Given the description of an element on the screen output the (x, y) to click on. 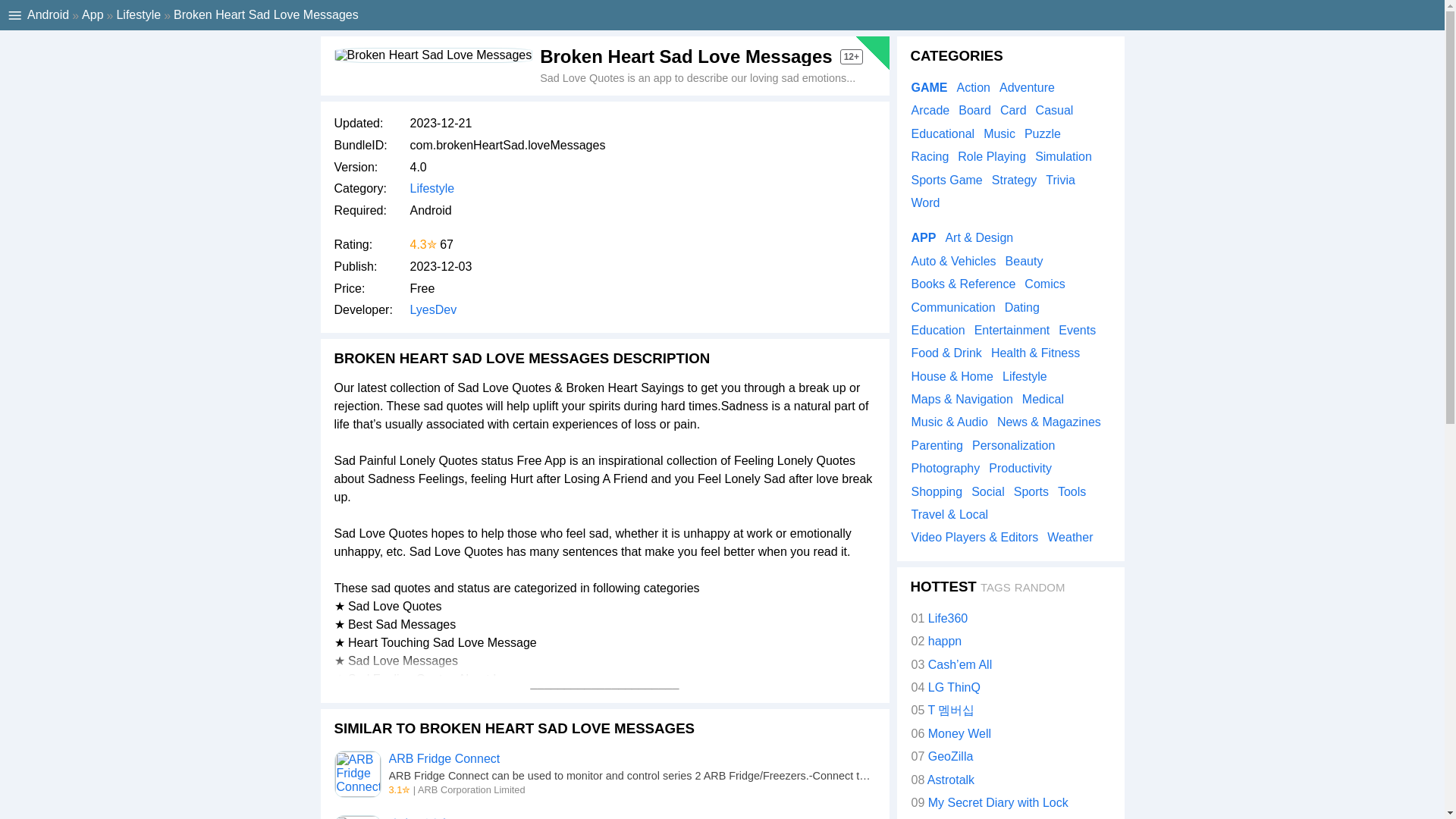
App (92, 14)
ARB Fridge Connect (443, 758)
Broken Heart Sad Love Messages (432, 55)
LyesDev (433, 309)
Android (47, 14)
Lifestyle (138, 14)
ARB Corporation Limited (471, 789)
2023-12-21 (440, 123)
ARB Fridge Connect (356, 774)
Lifestyle (431, 187)
